Given the description of an element on the screen output the (x, y) to click on. 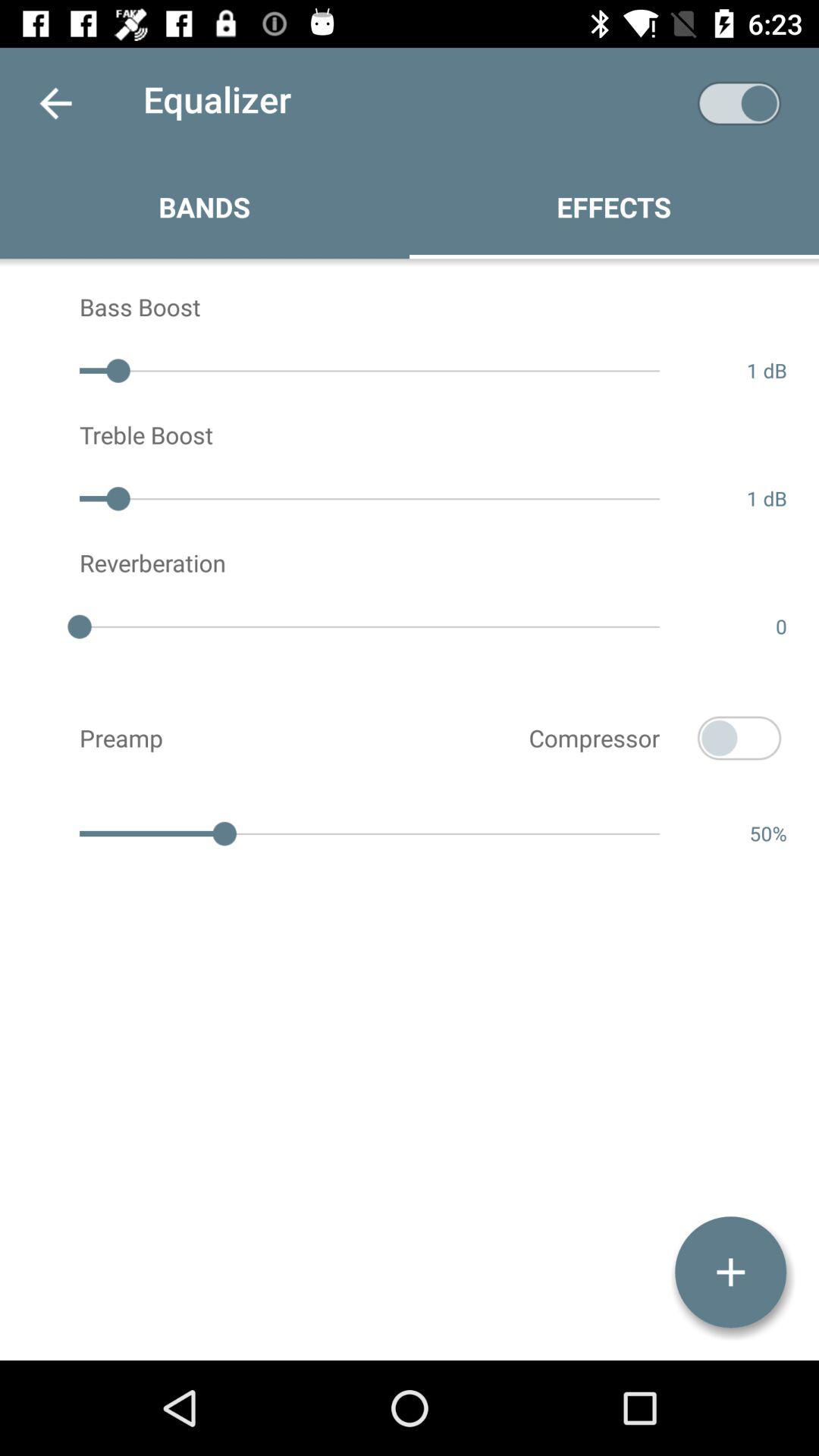
tap the icon next to compressor icon (739, 738)
